Given the description of an element on the screen output the (x, y) to click on. 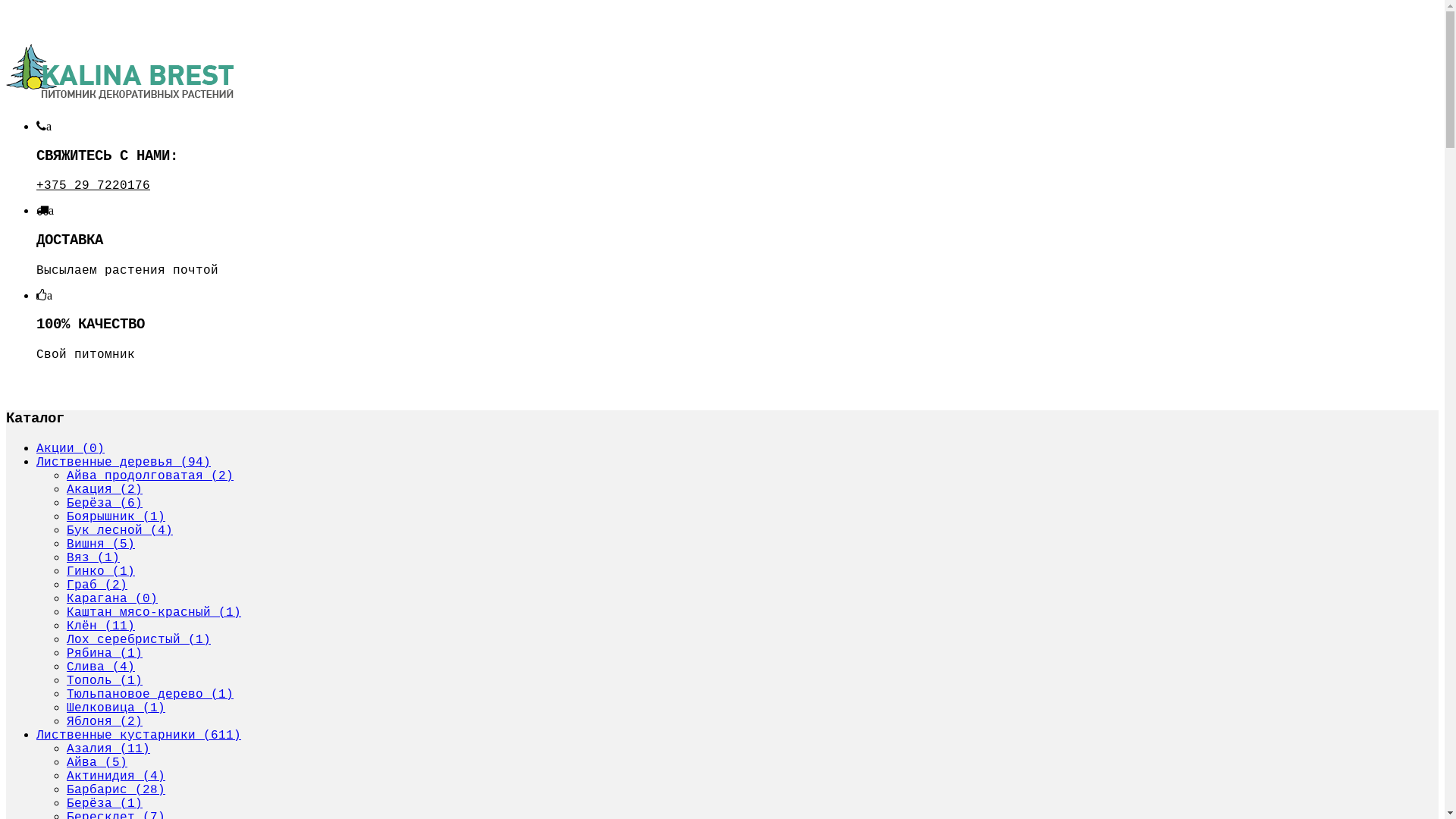
+375 29 7220176 Element type: text (93, 184)
